Given the description of an element on the screen output the (x, y) to click on. 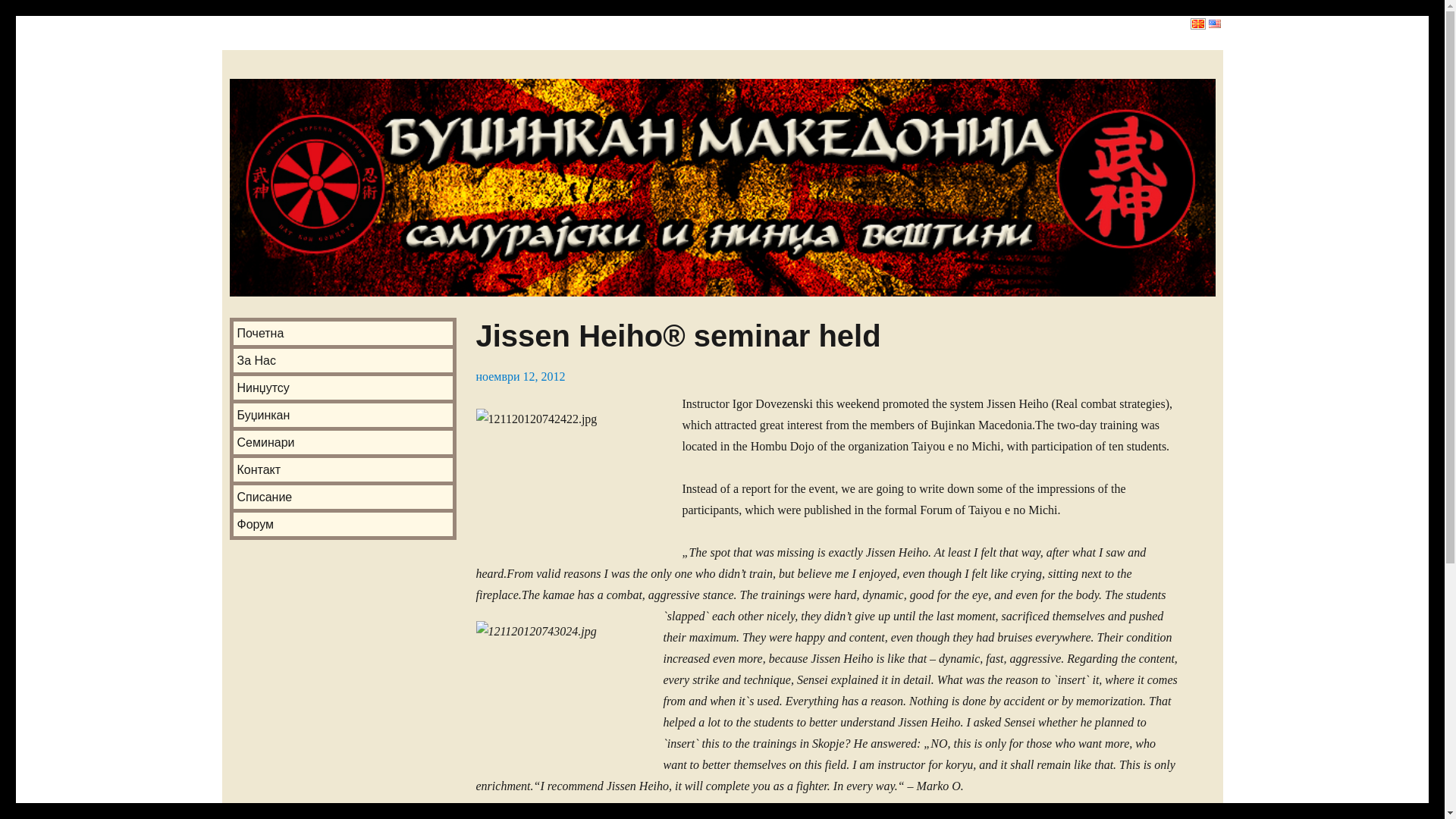
English (1214, 23)
